Given the description of an element on the screen output the (x, y) to click on. 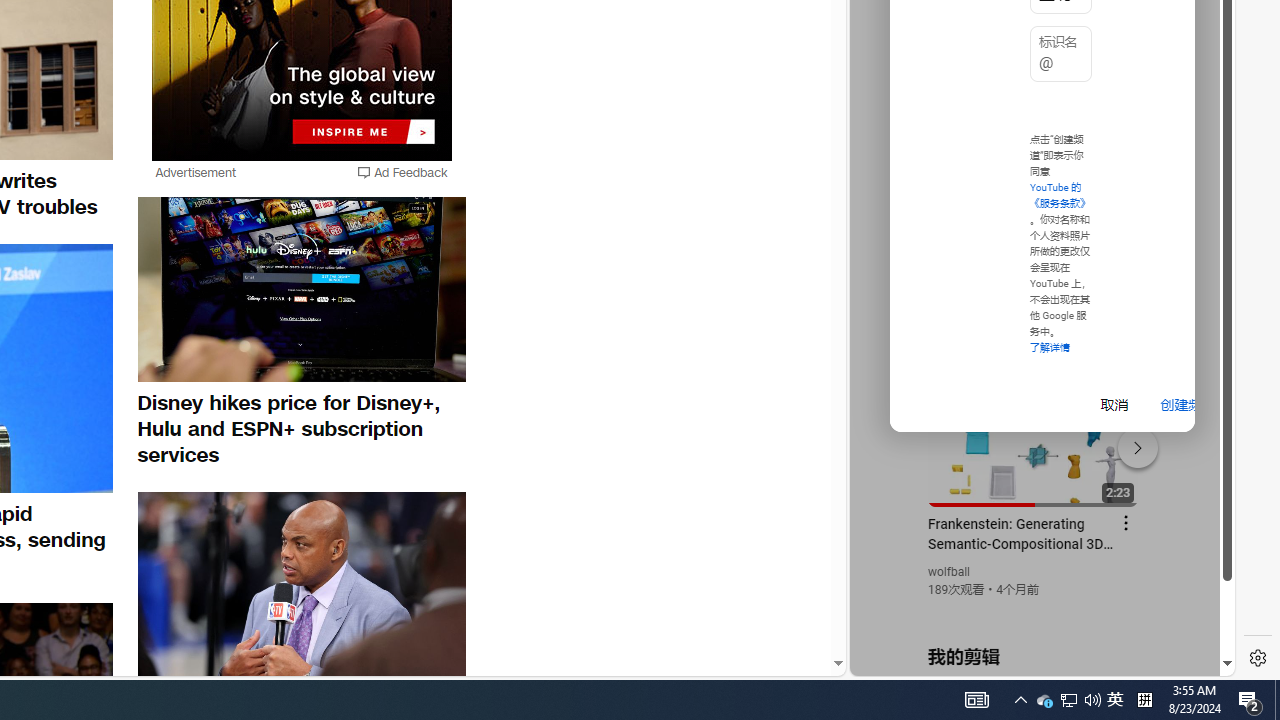
wolfball (949, 572)
Class: dict_pnIcon rms_img (1028, 660)
YouTube - YouTube (1034, 266)
Click to scroll right (1196, 83)
Actions for this site (1131, 443)
you (1034, 609)
